Given the description of an element on the screen output the (x, y) to click on. 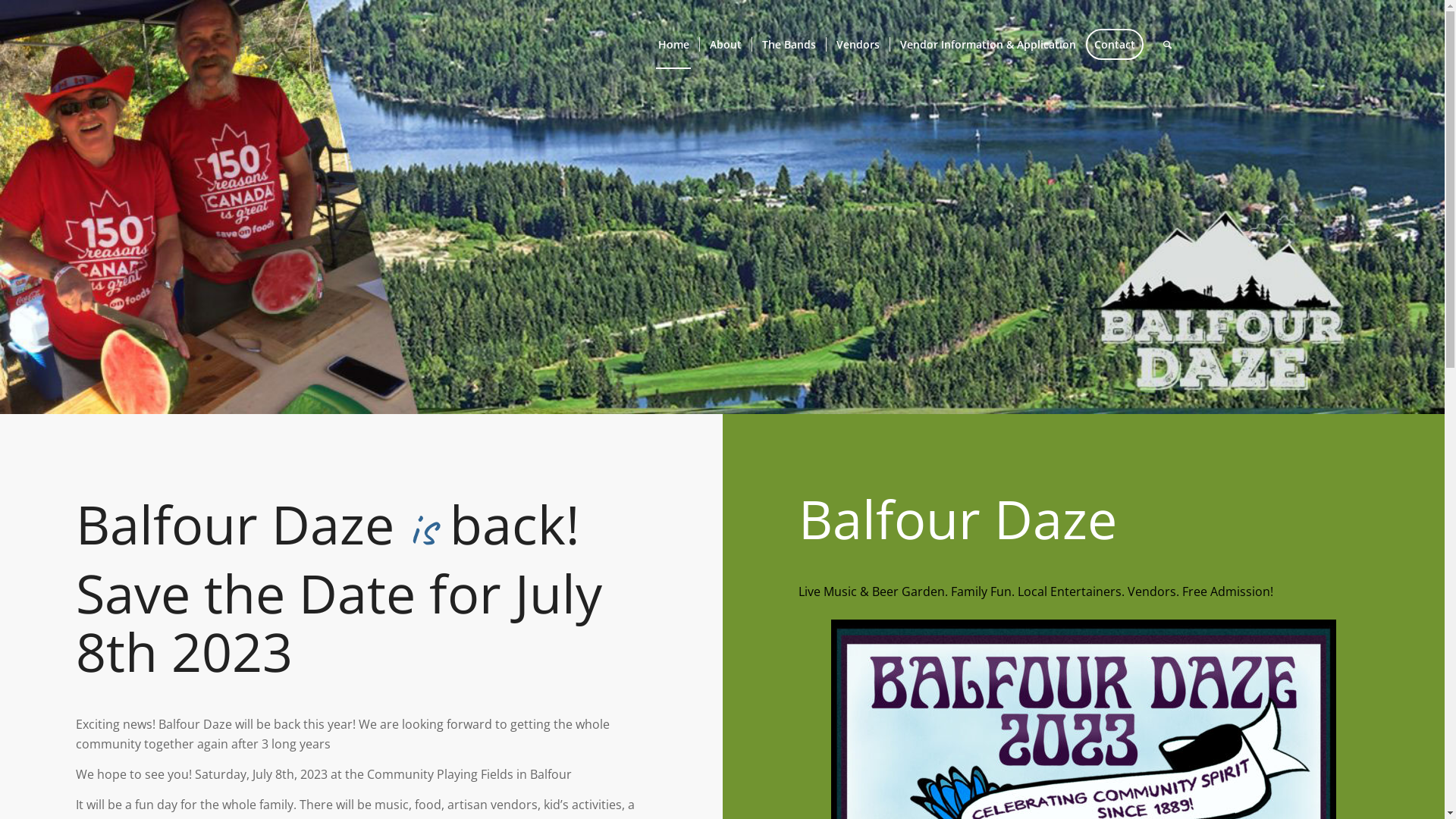
4-1500x430 Element type: hover (722, 207)
Vendors Element type: text (856, 44)
The Bands Element type: text (787, 44)
About Element type: text (725, 44)
Vendor Information & Application Element type: text (986, 44)
Home Element type: text (672, 44)
Contact Element type: text (1119, 44)
